Given the description of an element on the screen output the (x, y) to click on. 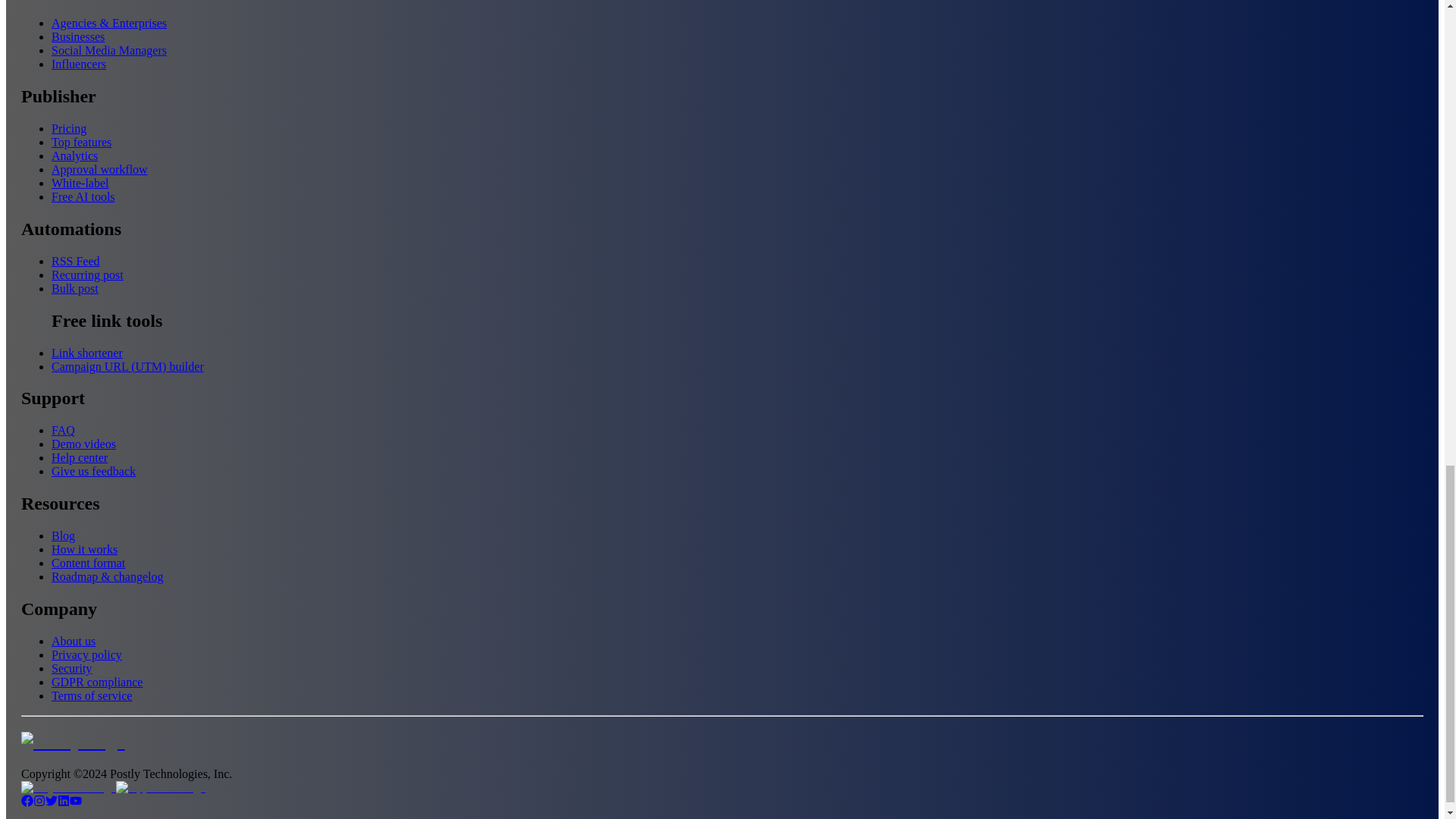
Link shortener (86, 352)
FAQ (62, 430)
Demo videos (83, 443)
Terms of service (91, 695)
Businesses (77, 36)
Give us feedback (92, 471)
White-label (79, 182)
GDPR compliance (96, 681)
Help center (78, 457)
RSS Feed (75, 260)
